Given the description of an element on the screen output the (x, y) to click on. 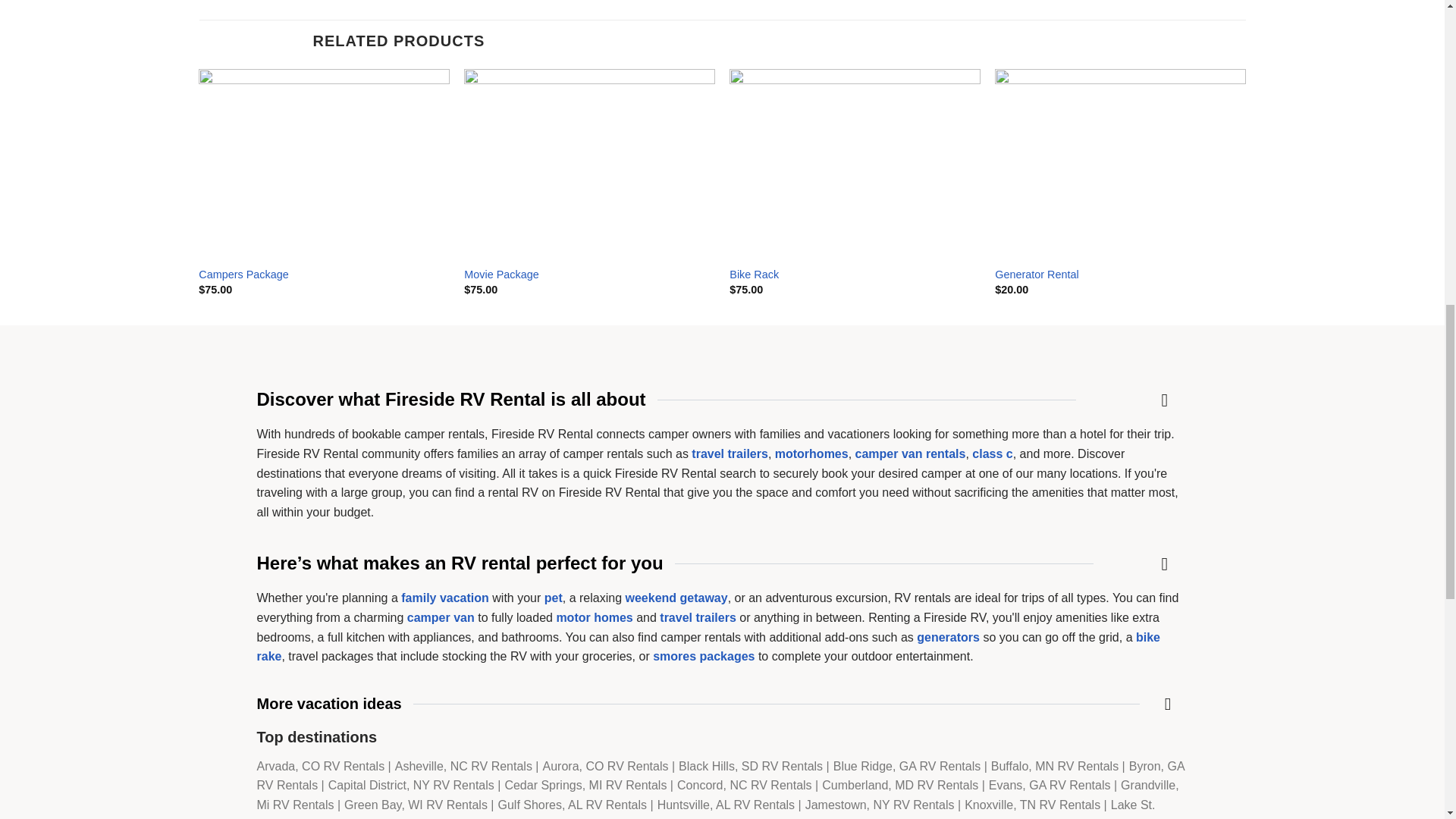
Campers Package (243, 274)
Movie Package (501, 274)
Asheville, NC RV Camper Rentals (464, 766)
Bike Rack (753, 274)
Aurora, CO RV Camper Rentals (606, 766)
Arvada, CO RV Camper Rentals (323, 766)
